Given the description of an element on the screen output the (x, y) to click on. 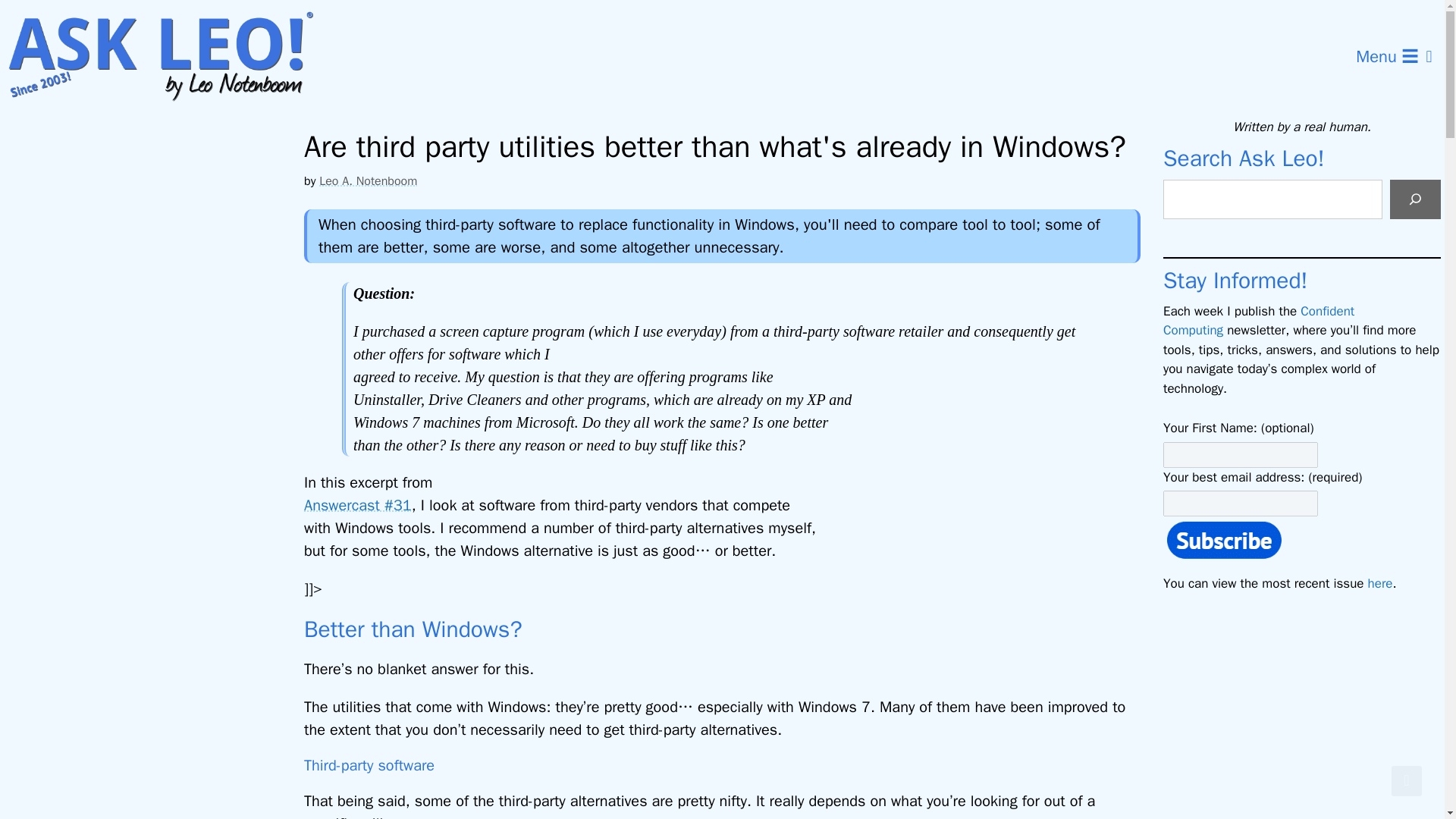
Scroll back to top (1406, 780)
Ask Leo! (165, 56)
Leo A. Notenboom (367, 180)
Ask Leo! (170, 56)
